Given the description of an element on the screen output the (x, y) to click on. 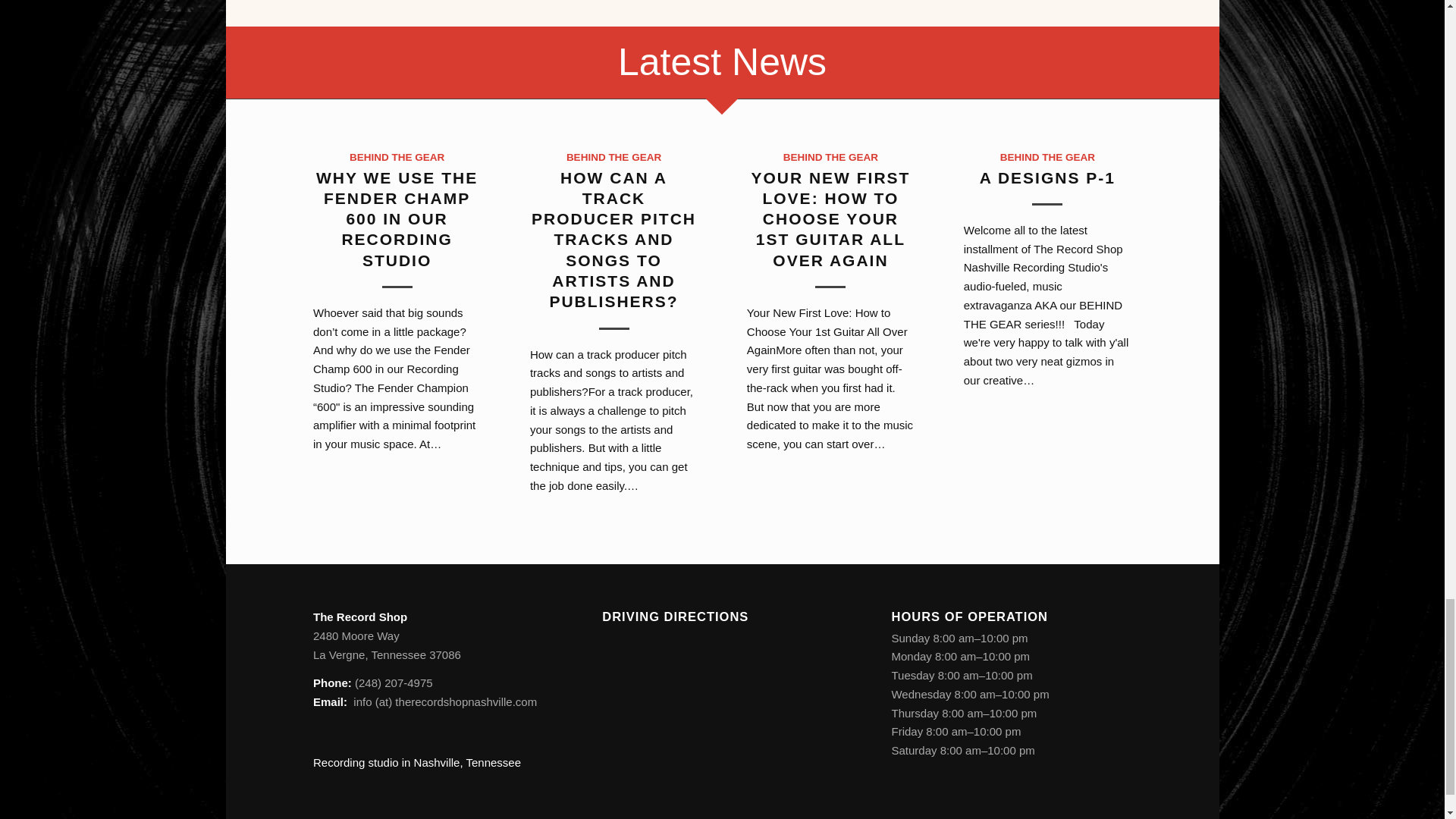
BEHIND THE GEAR (613, 156)
Why we use the Fender Champ 600 in our Recording Studio (396, 218)
WHY WE USE THE FENDER CHAMP 600 IN OUR RECORDING STUDIO (396, 218)
BEHIND THE GEAR (396, 156)
